Given the description of an element on the screen output the (x, y) to click on. 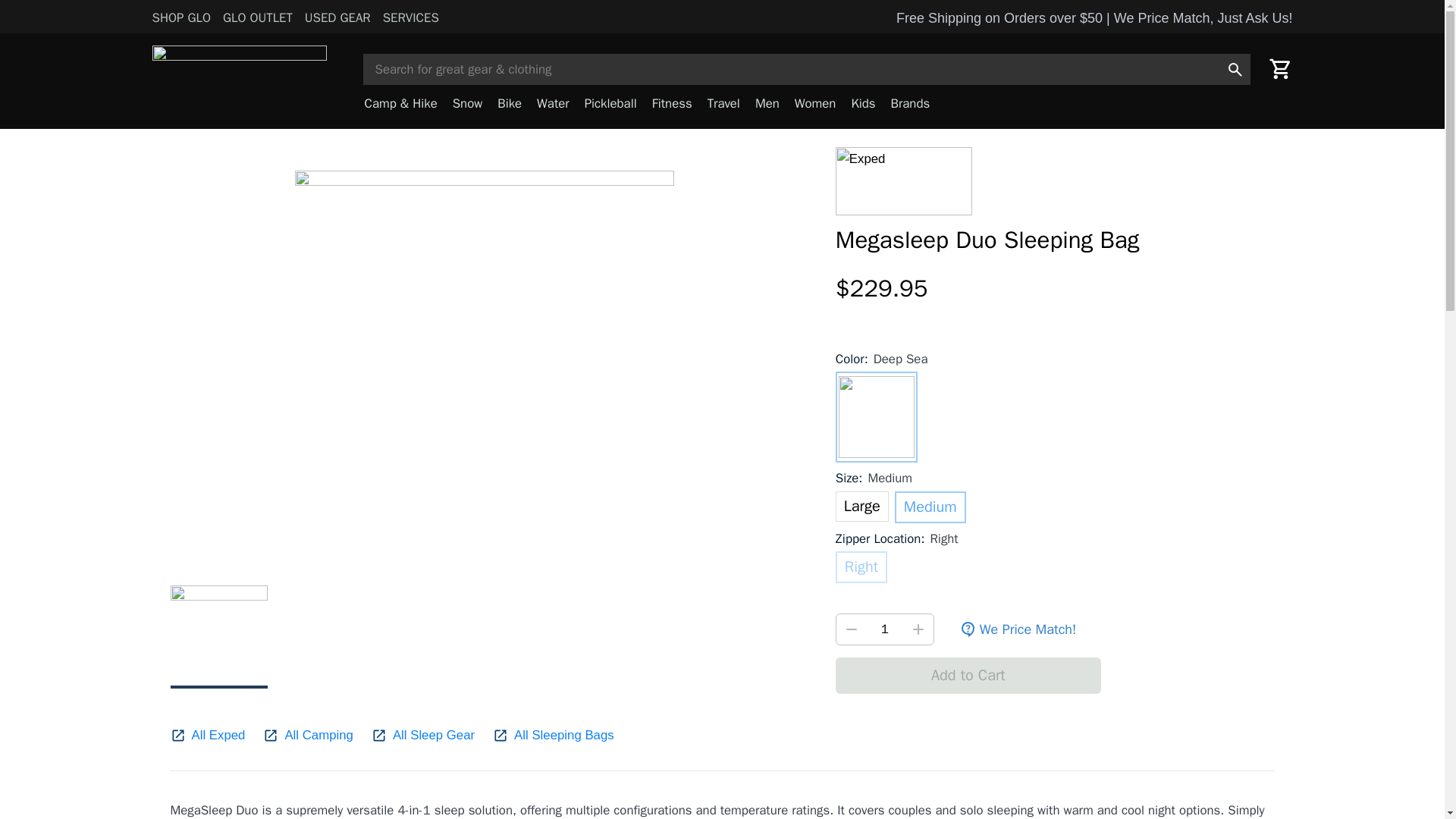
Deep Sea (876, 416)
Travel (724, 103)
Large (861, 507)
All Sleep Gear (433, 735)
Bike (509, 103)
Add to Cart (967, 675)
Men (767, 103)
Snow (467, 103)
Kids (862, 103)
Exped (903, 181)
